Given the description of an element on the screen output the (x, y) to click on. 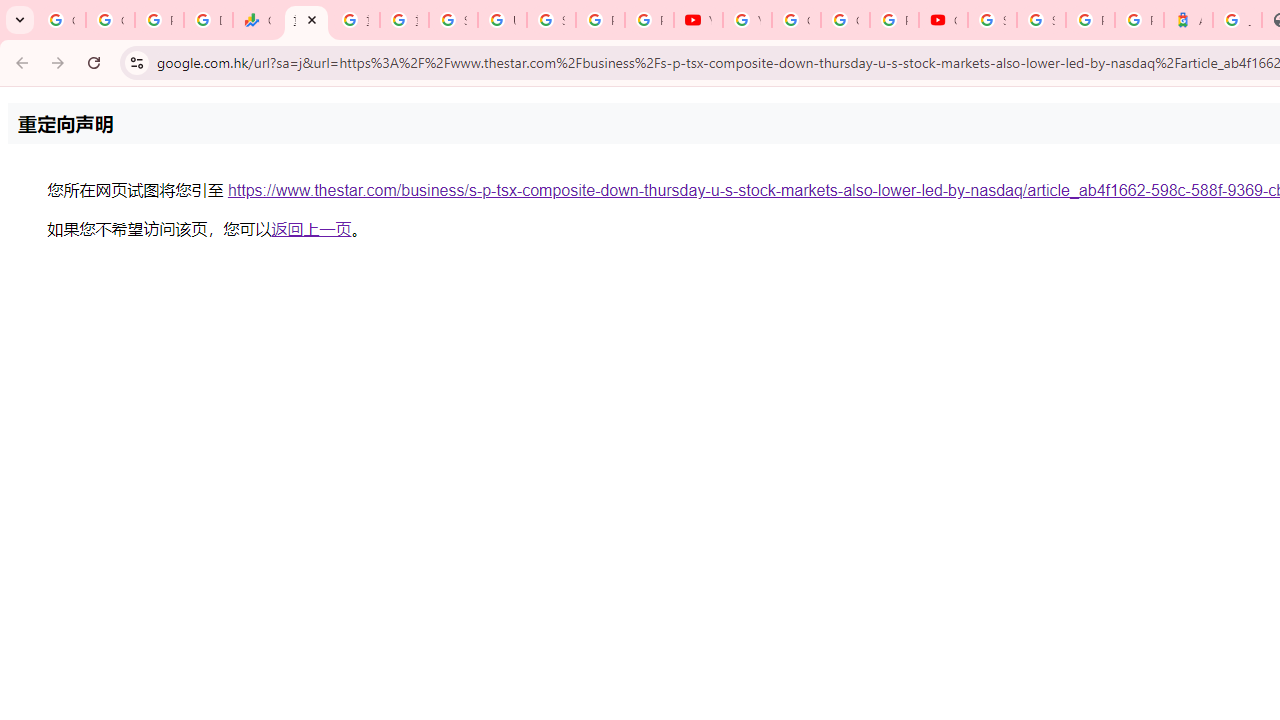
Sign in - Google Accounts (452, 20)
Sign in - Google Accounts (551, 20)
Privacy Checkup (649, 20)
YouTube (698, 20)
Atour Hotel - Google hotels (1188, 20)
